Given the description of an element on the screen output the (x, y) to click on. 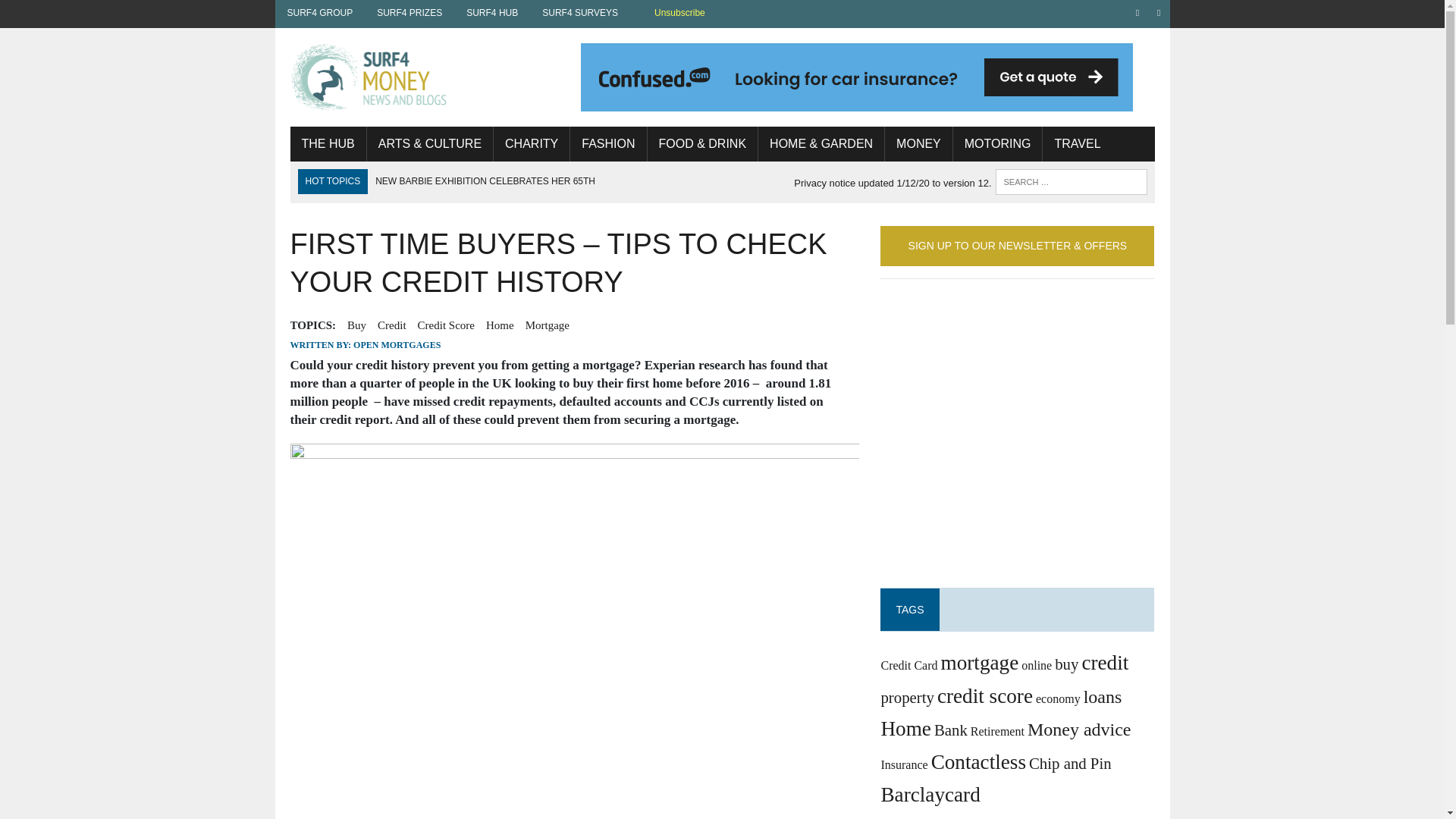
Credit (391, 325)
SURF4 PRIZES (409, 12)
Click here to read our updated Privacy Notice (892, 183)
Credit Score (445, 325)
New Barbie exhibition celebrates her 65th anniversary (485, 193)
FASHION (608, 143)
TRAVEL (1077, 143)
Search (75, 14)
Surf4 at Facebook (1137, 12)
MOTORING (997, 143)
Surf4 at Twitter (1158, 12)
Surf4 Hub (491, 12)
CHARITY (531, 143)
SURF4 SURVEYS (579, 12)
Surf4 Surveys (579, 12)
